Given the description of an element on the screen output the (x, y) to click on. 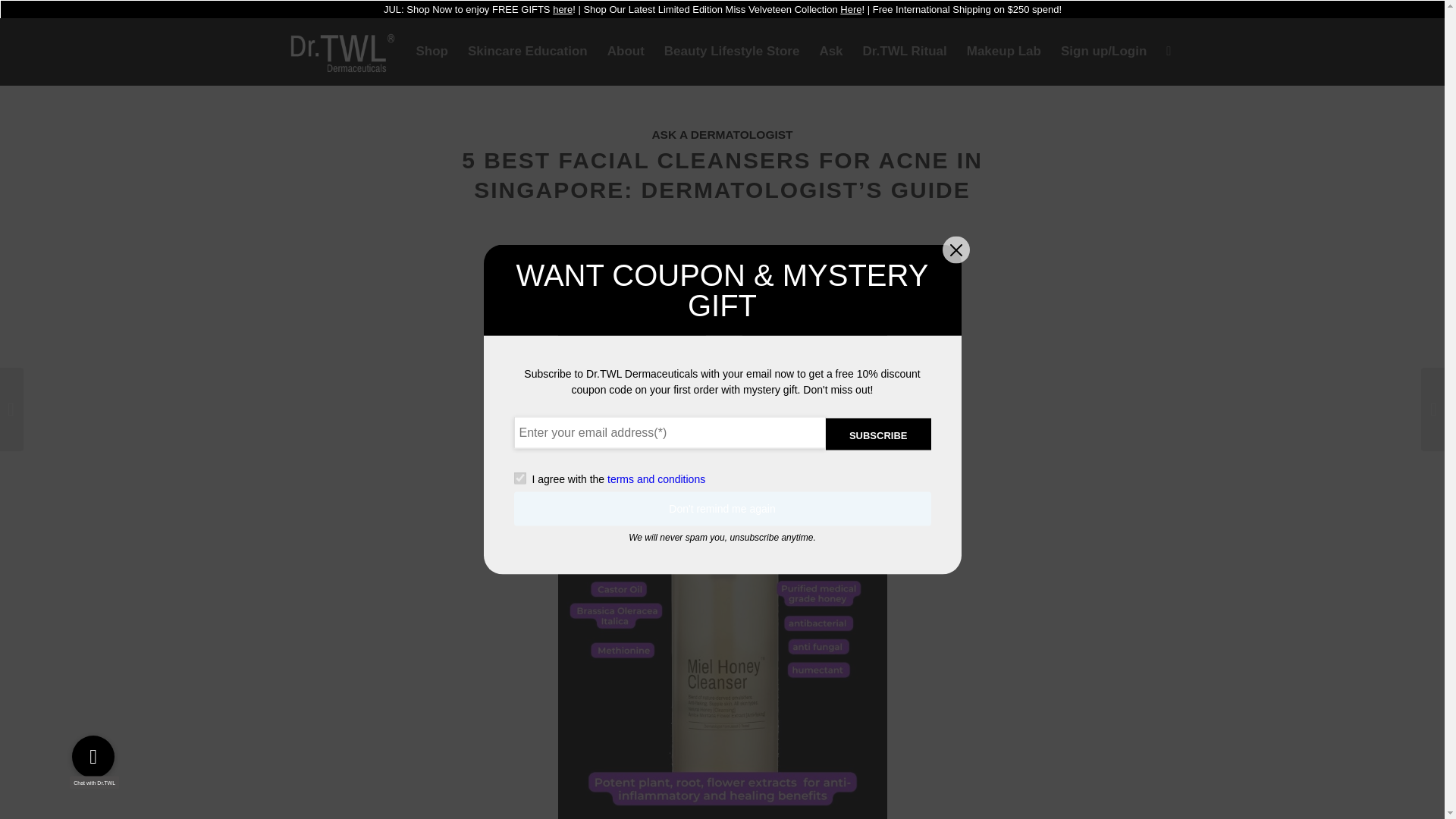
on (519, 478)
JUL: Shop Now to enjoy FREE GIFTS here! (479, 9)
